Given the description of an element on the screen output the (x, y) to click on. 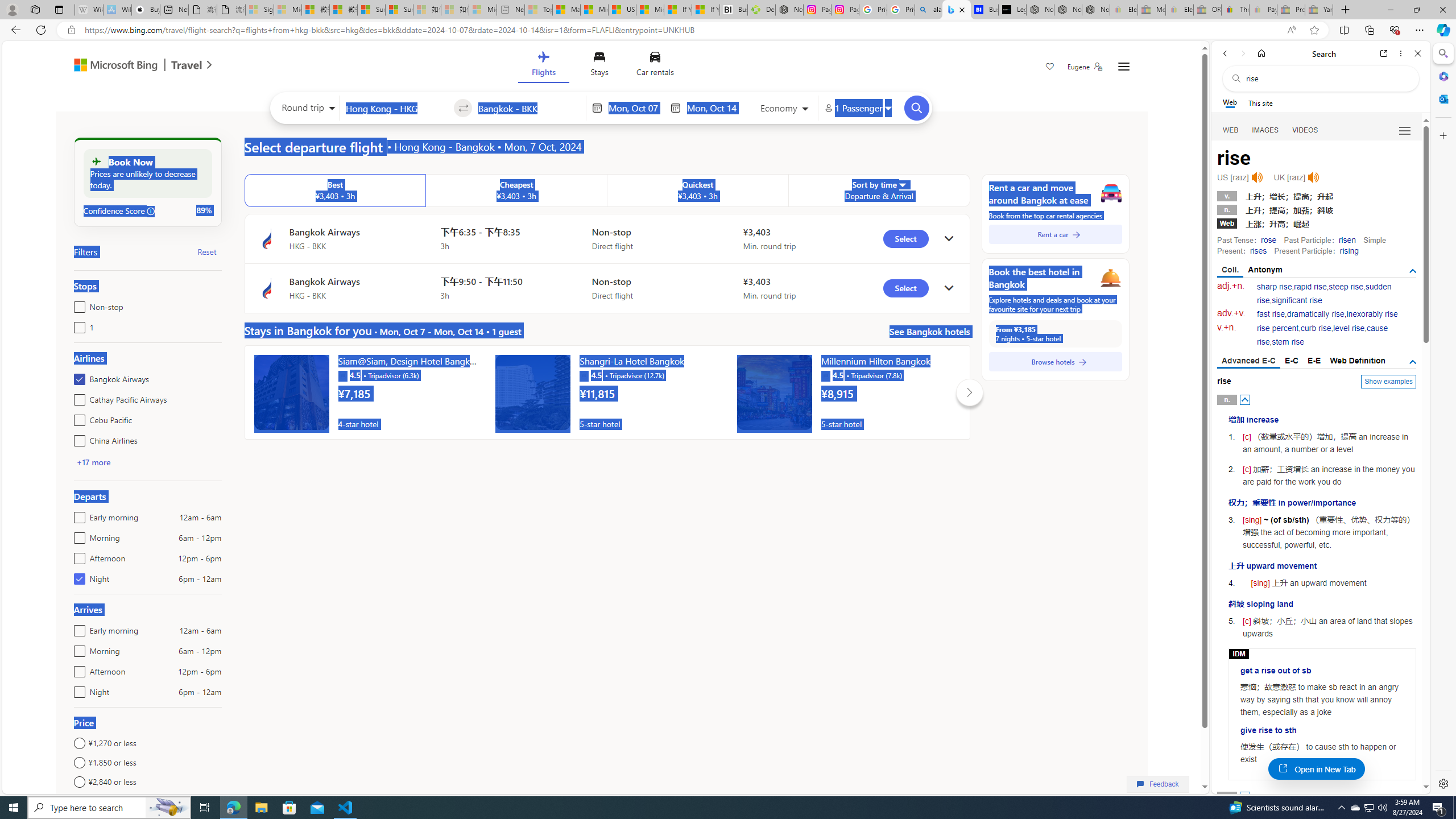
1 (76, 325)
Sorter (901, 184)
Flights (542, 65)
Save (1049, 67)
Rent a car (1055, 234)
Info tooltip (151, 211)
Morning6am - 12pm (76, 648)
Early morning12am - 6am (76, 628)
Click to listen (1313, 177)
Class: b_serphb (1404, 130)
Afternoon12pm - 6pm (76, 669)
